Given the description of an element on the screen output the (x, y) to click on. 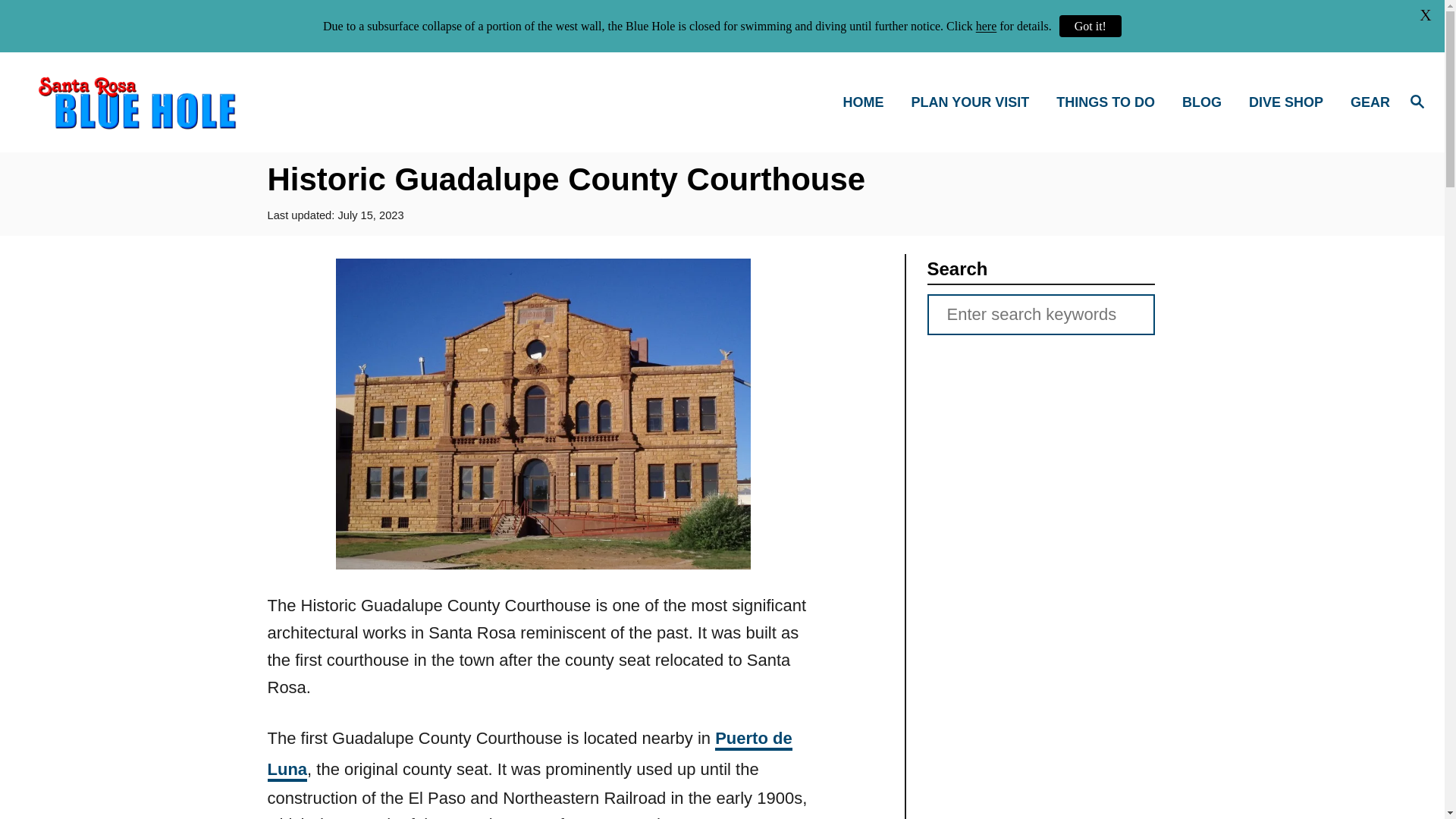
Search for: (1040, 314)
Santa Rosa Blue Hole (204, 102)
Search (62, 22)
Puerto de Luna (529, 754)
THINGS TO DO (1109, 102)
GEAR (1365, 102)
DIVE SHOP (1290, 102)
BLOG (1206, 102)
Magnifying Glass (1416, 101)
HOME (868, 102)
